Given the description of an element on the screen output the (x, y) to click on. 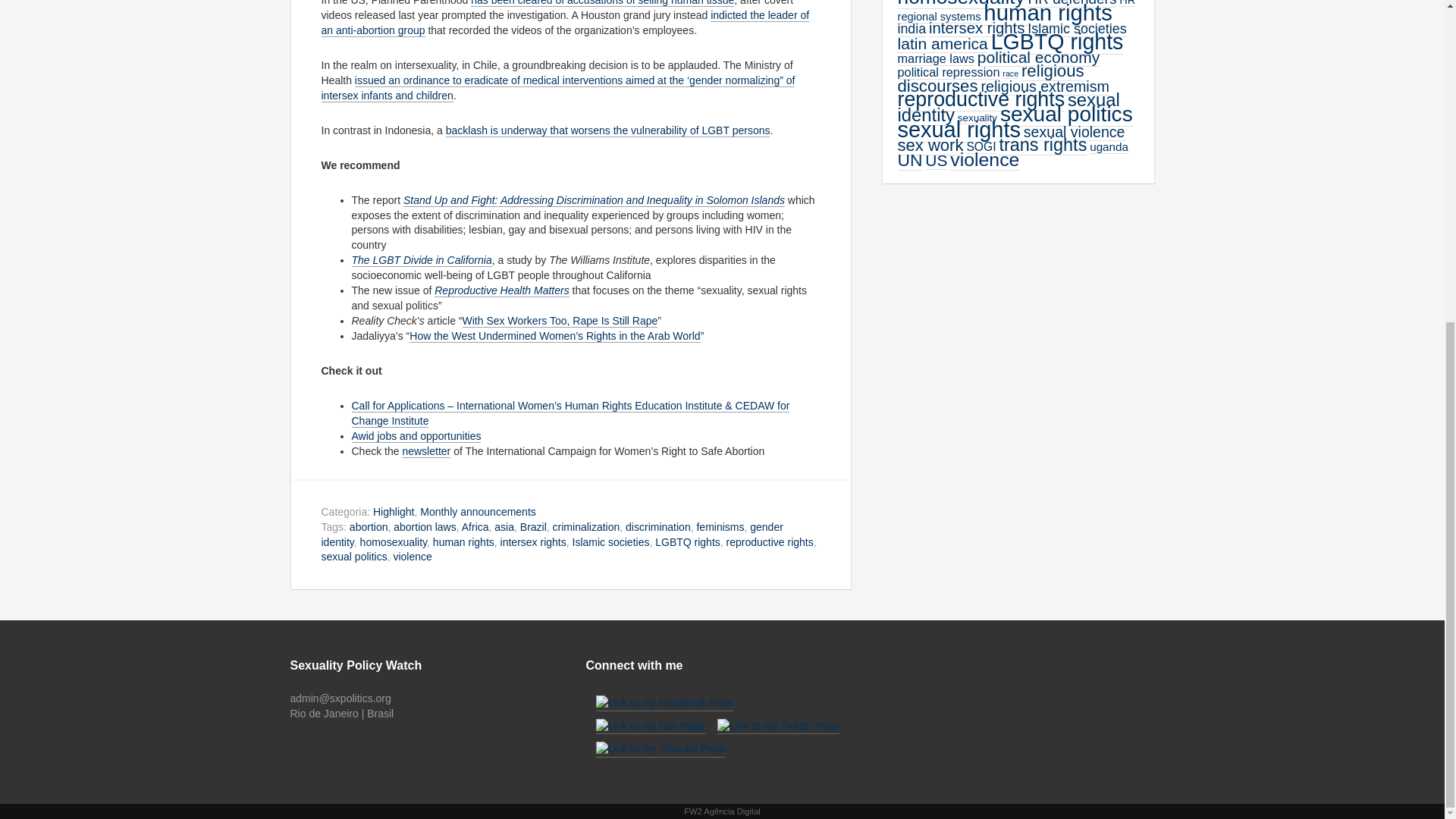
indicted the leader of an anti-abortion group (565, 22)
With Sex Workers Too, Rape Is Still Rape (560, 320)
Link to my Rss Page (649, 725)
Link to my Twitter Page (778, 725)
The LGBT Divide in California (422, 259)
newsletter (425, 451)
Reproductive Health Matters (501, 290)
has been cleared of accusations of selling human tissue (601, 3)
